Given the description of an element on the screen output the (x, y) to click on. 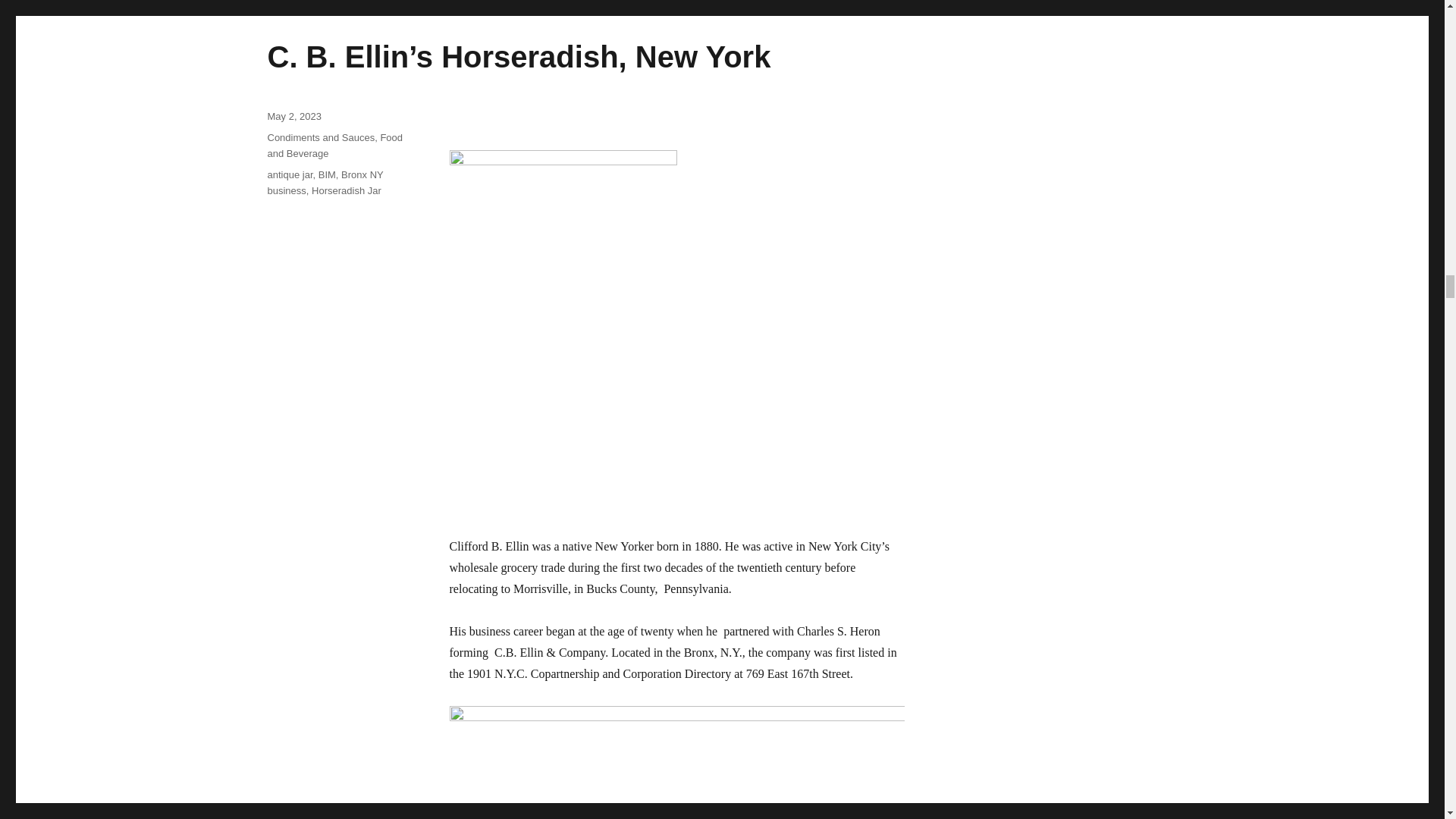
May 2, 2023 (293, 116)
Bronx NY business (324, 182)
Condiments and Sauces (320, 137)
Horseradish Jar (346, 190)
antique jar (289, 174)
Food and Beverage (334, 144)
BIM (327, 174)
